Given the description of an element on the screen output the (x, y) to click on. 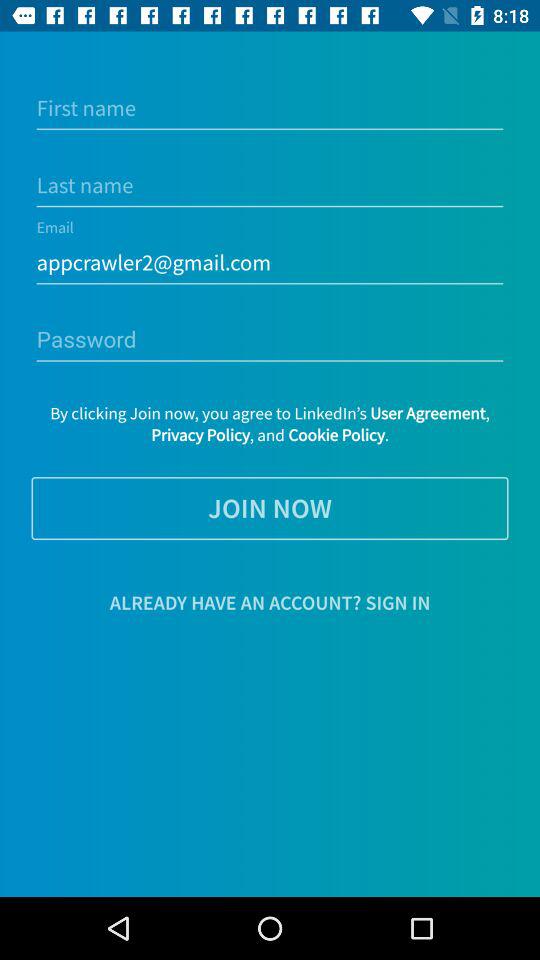
click the by clicking join icon (269, 424)
